Given the description of an element on the screen output the (x, y) to click on. 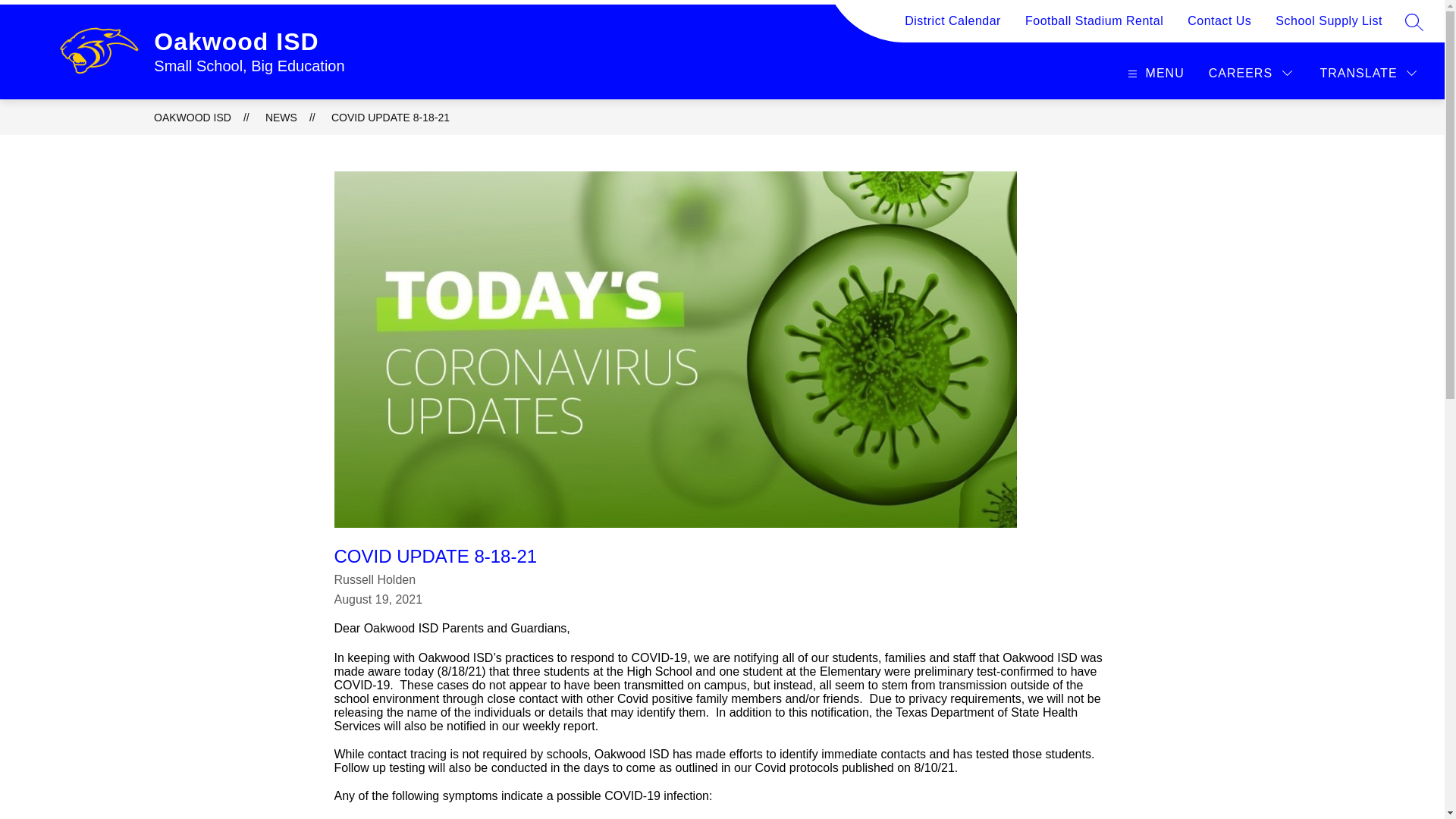
School Supply List (1328, 27)
MENU (1153, 72)
TRANSLATE (1370, 72)
District Calendar (952, 27)
NEWS (280, 117)
OAKWOOD ISD (192, 117)
Football Stadium Rental (1094, 27)
COVID UPDATE 8-18-21 (390, 117)
Contact Us (1219, 27)
CAREERS (1251, 72)
